Given the description of an element on the screen output the (x, y) to click on. 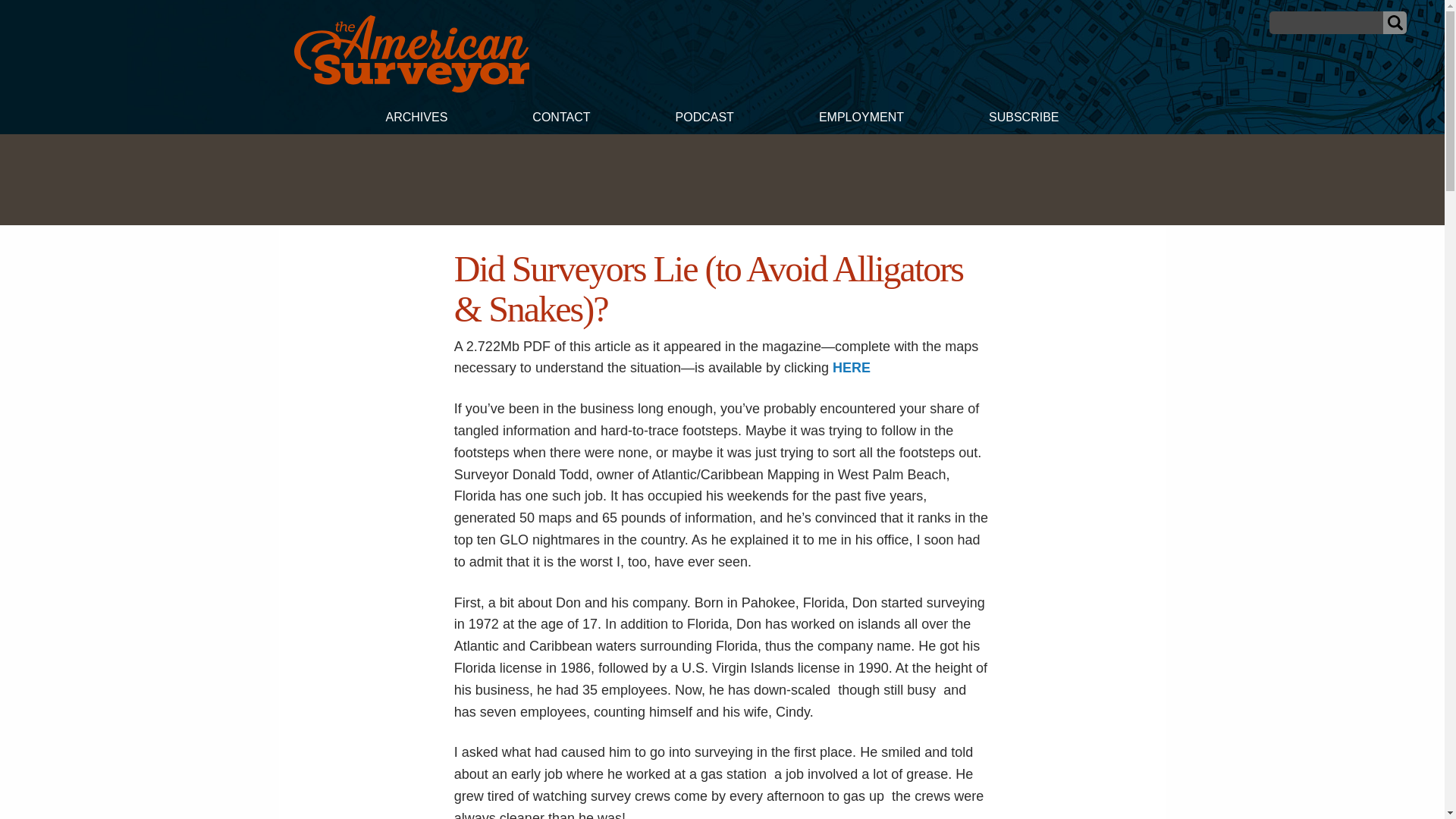
SUBSCRIBE (1024, 119)
Submit (1394, 22)
The American Surveyor (411, 53)
CONTACT (560, 119)
The American Surveyor (411, 88)
Submit (1394, 22)
PODCAST (704, 119)
ARCHIVES (415, 119)
Submit (1394, 22)
Search for: (1326, 22)
EMPLOYMENT (861, 119)
HERE (851, 367)
3rd party ad content (721, 179)
